Given the description of an element on the screen output the (x, y) to click on. 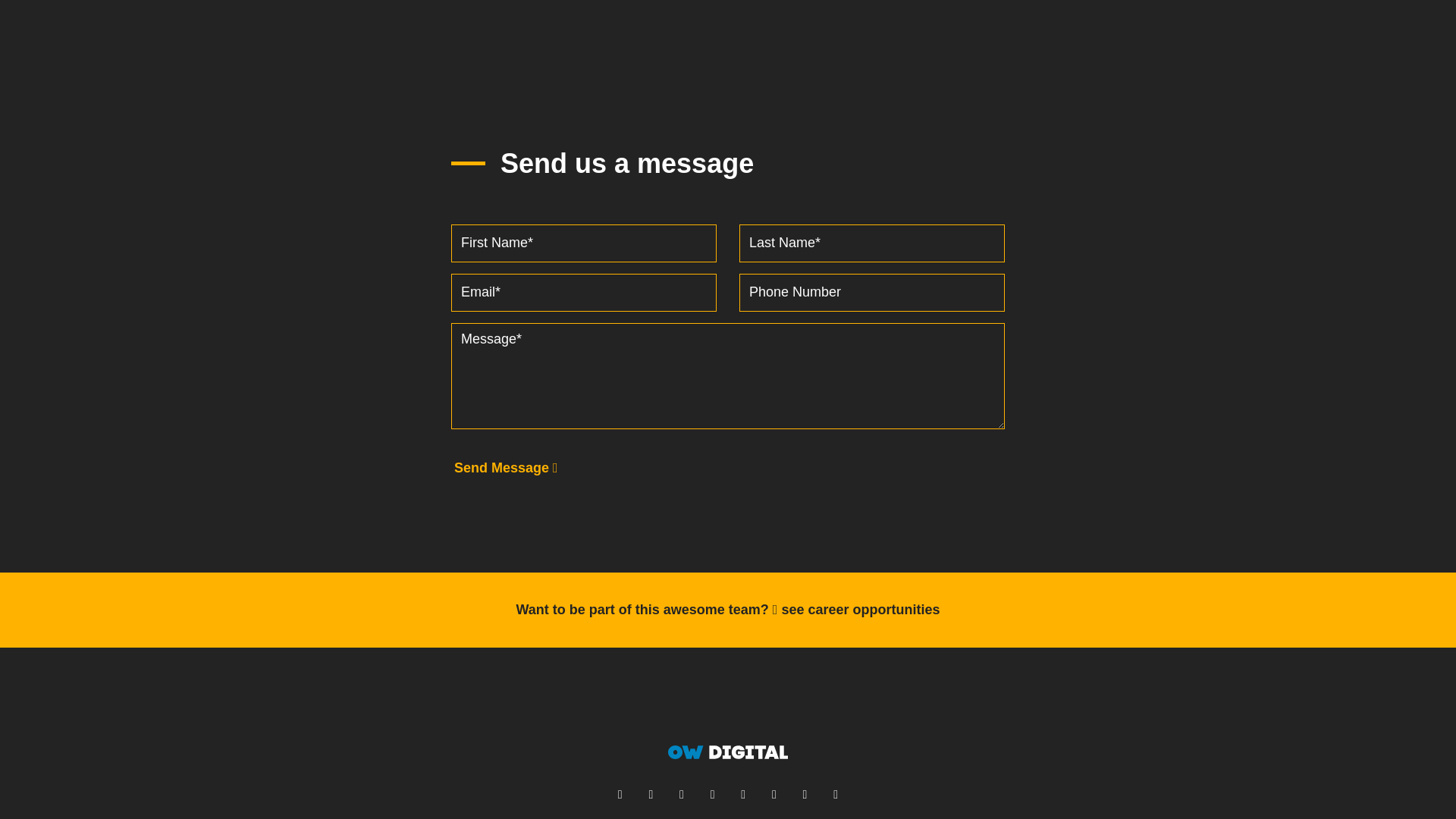
Home (727, 751)
